Given the description of an element on the screen output the (x, y) to click on. 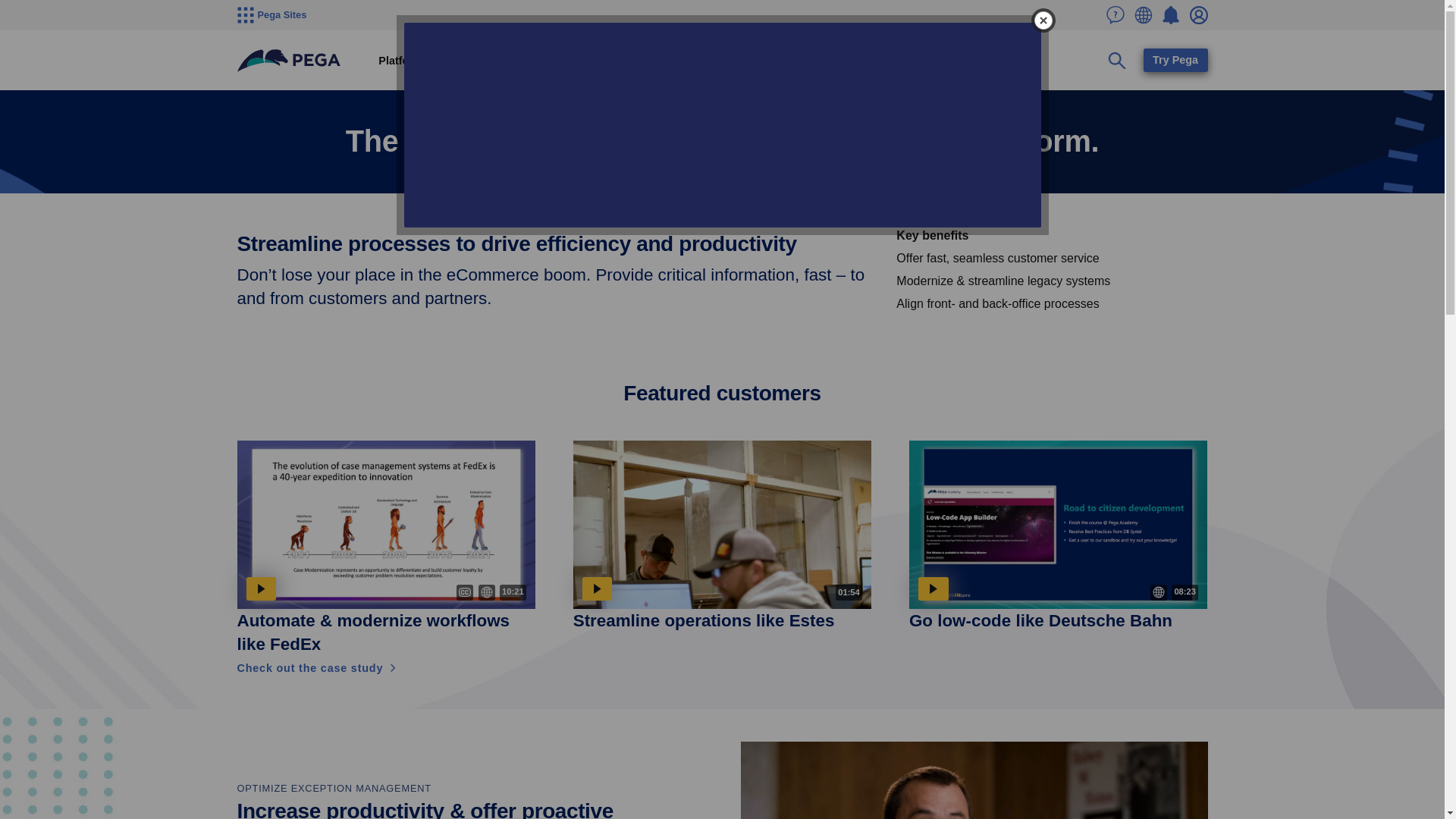
Solutions (466, 60)
Platform (400, 60)
Toggle Search Panel (1117, 60)
